Given the description of an element on the screen output the (x, y) to click on. 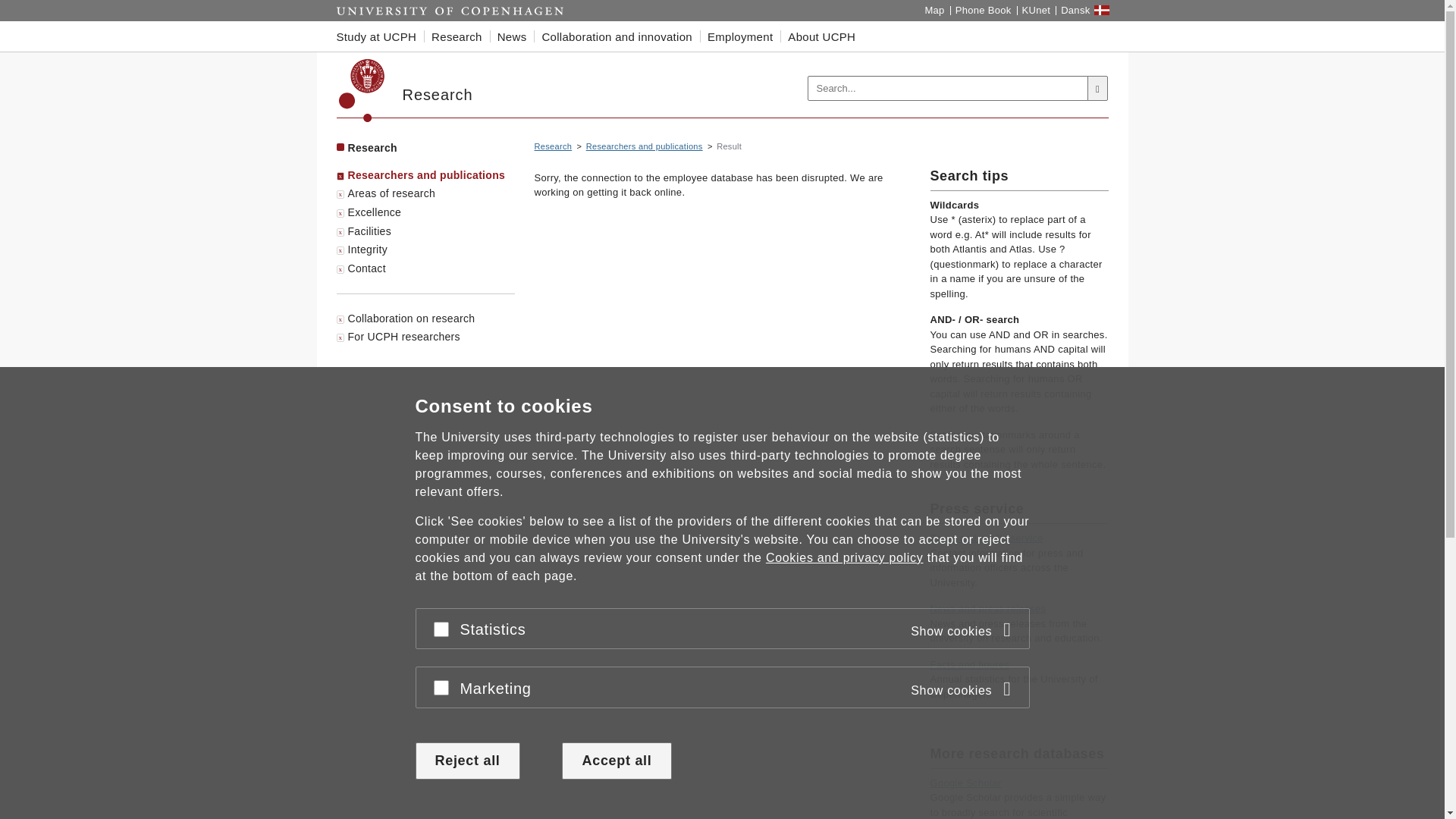
News site (987, 608)
Facts and figures (969, 664)
Search researchers and publications (644, 145)
Start (450, 10)
